Given the description of an element on the screen output the (x, y) to click on. 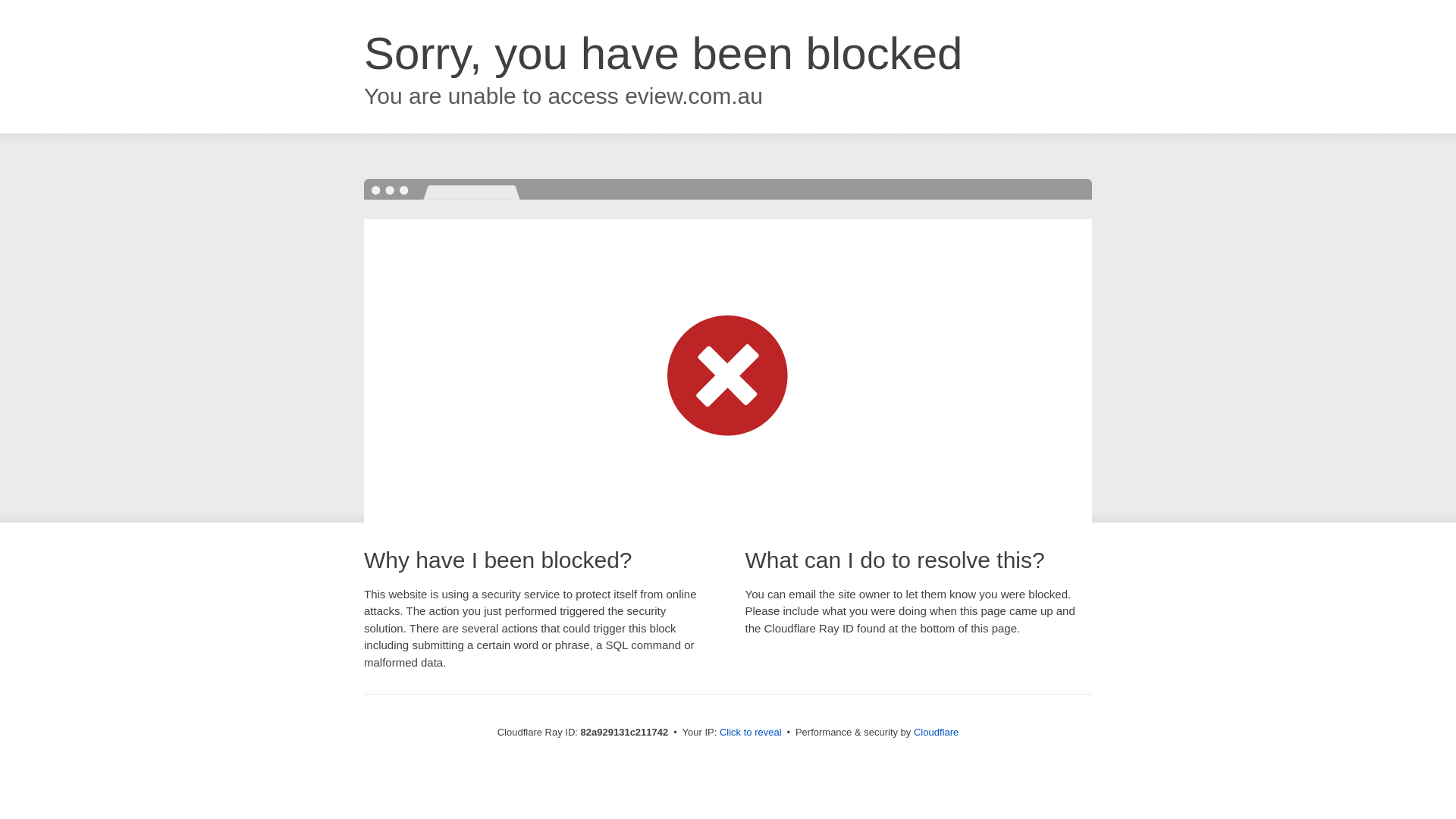
Cloudflare Element type: text (935, 731)
Click to reveal Element type: text (750, 732)
